Given the description of an element on the screen output the (x, y) to click on. 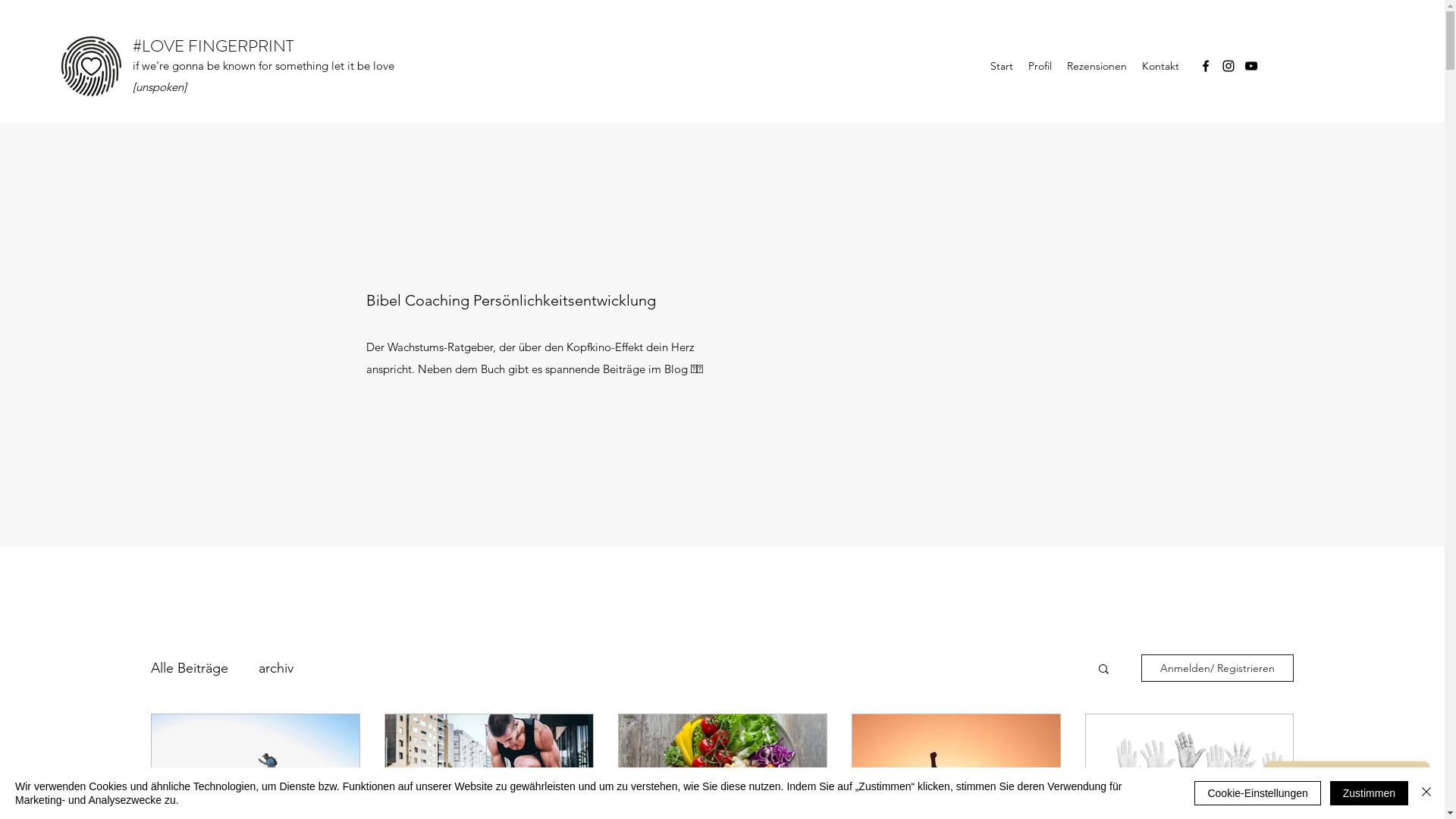
Zustimmen Element type: text (1369, 793)
#LOVE FINGERPRINT Element type: text (212, 45)
Rezensionen Element type: text (1096, 65)
External YouTube Element type: hover (903, 334)
Anmelden/ Registrieren Element type: text (1217, 667)
Profil Element type: text (1039, 65)
archiv Element type: text (275, 667)
Kontakt Element type: text (1160, 65)
Cookie-Einstellungen Element type: text (1257, 793)
Start Element type: text (1001, 65)
